Given the description of an element on the screen output the (x, y) to click on. 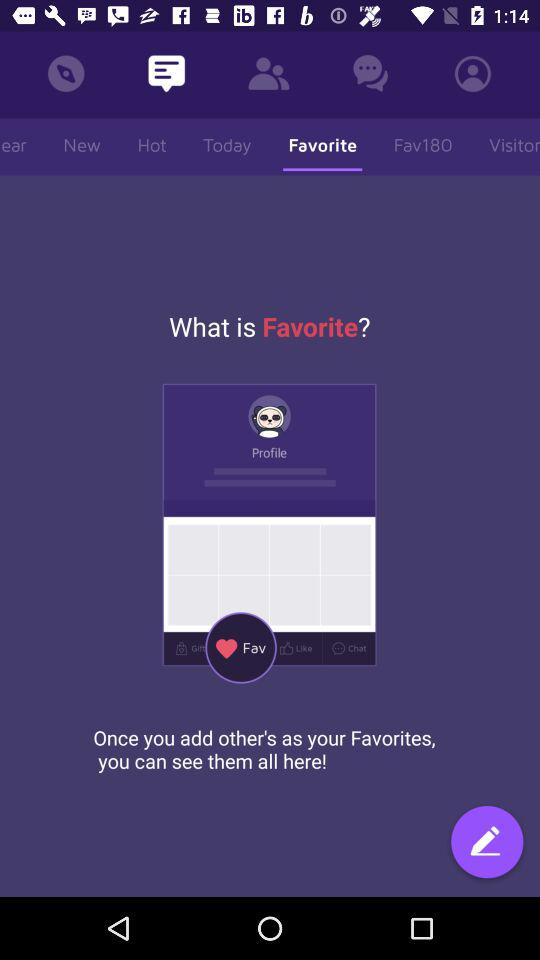
open item below once you add item (487, 844)
